Given the description of an element on the screen output the (x, y) to click on. 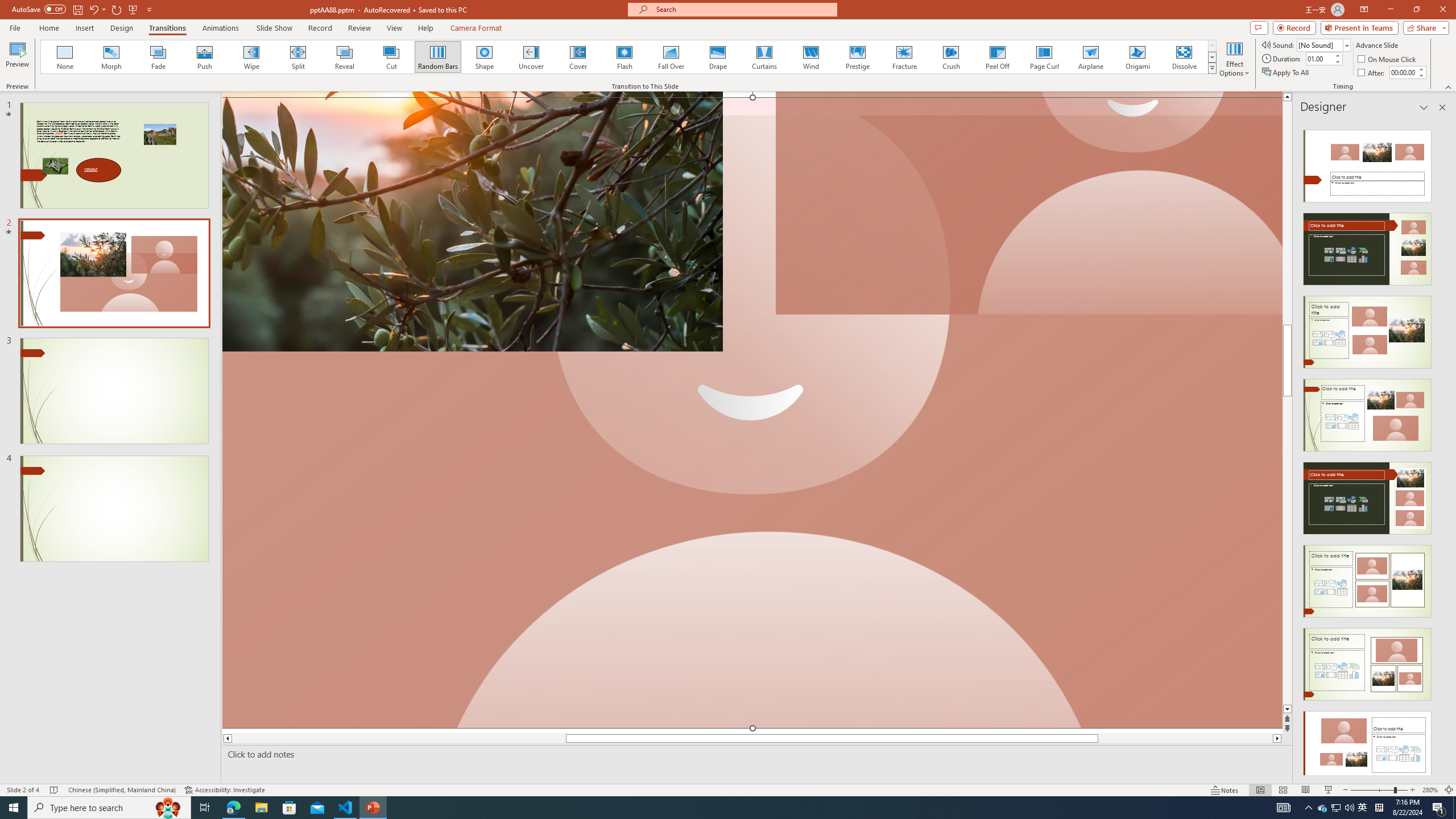
Reveal (344, 56)
Duration (1319, 58)
Dissolve (1183, 56)
Crush (950, 56)
AutomationID: AnimationTransitionGallery (628, 56)
Cover (577, 56)
